Given the description of an element on the screen output the (x, y) to click on. 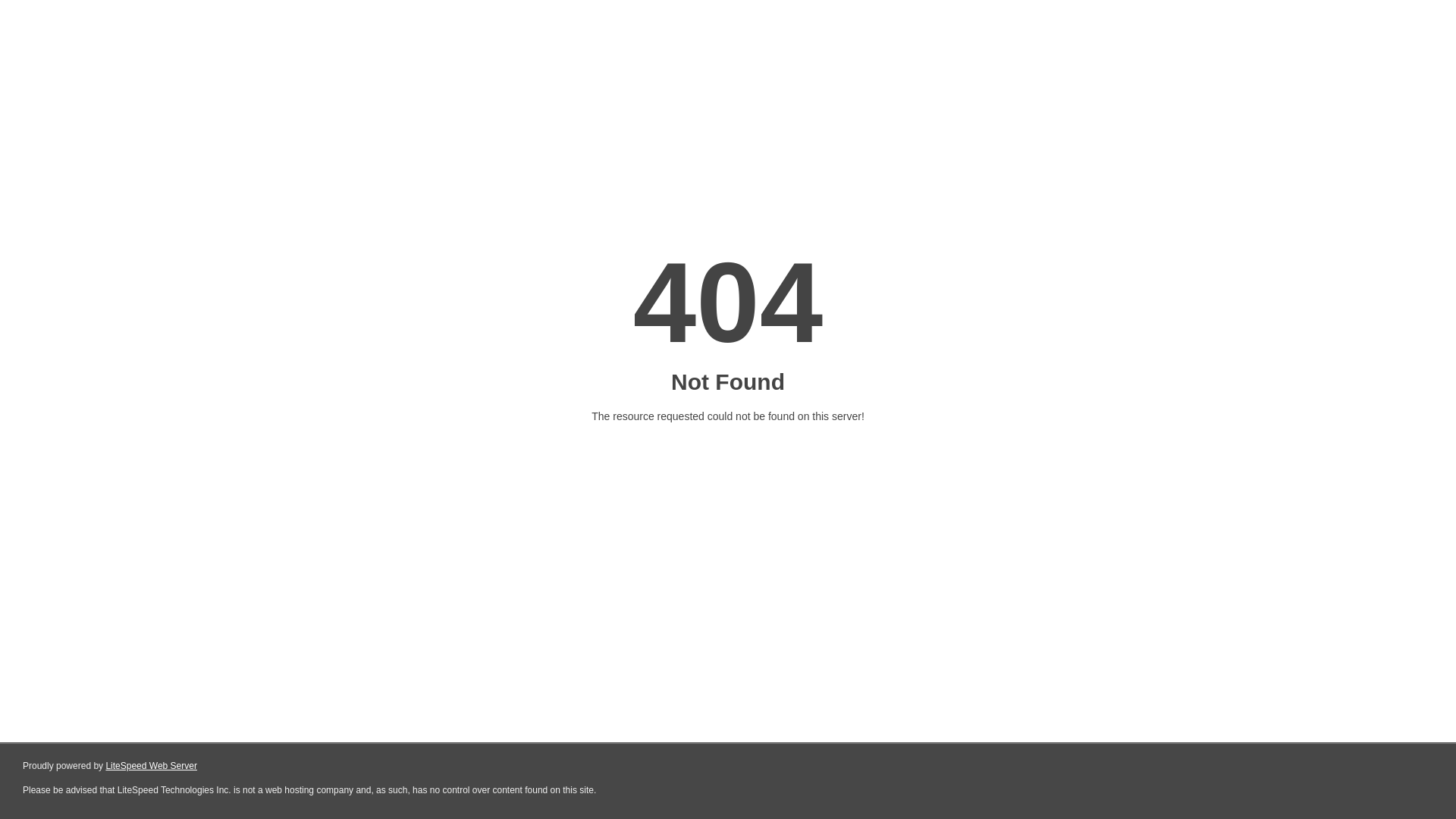
LiteSpeed Web Server Element type: text (151, 765)
